Given the description of an element on the screen output the (x, y) to click on. 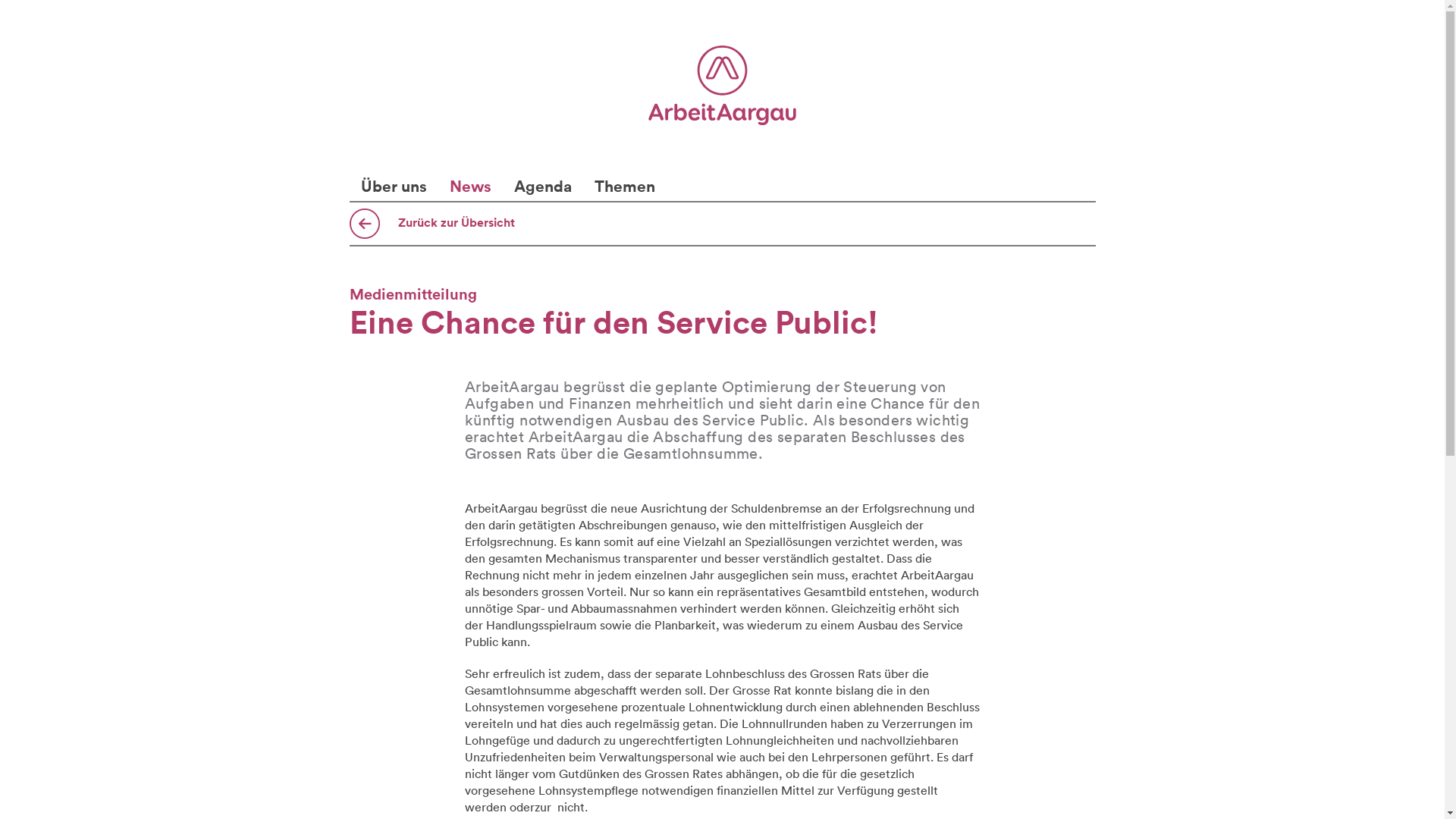
News Element type: text (470, 185)
Agenda Element type: text (542, 185)
Themen Element type: text (623, 185)
